Given the description of an element on the screen output the (x, y) to click on. 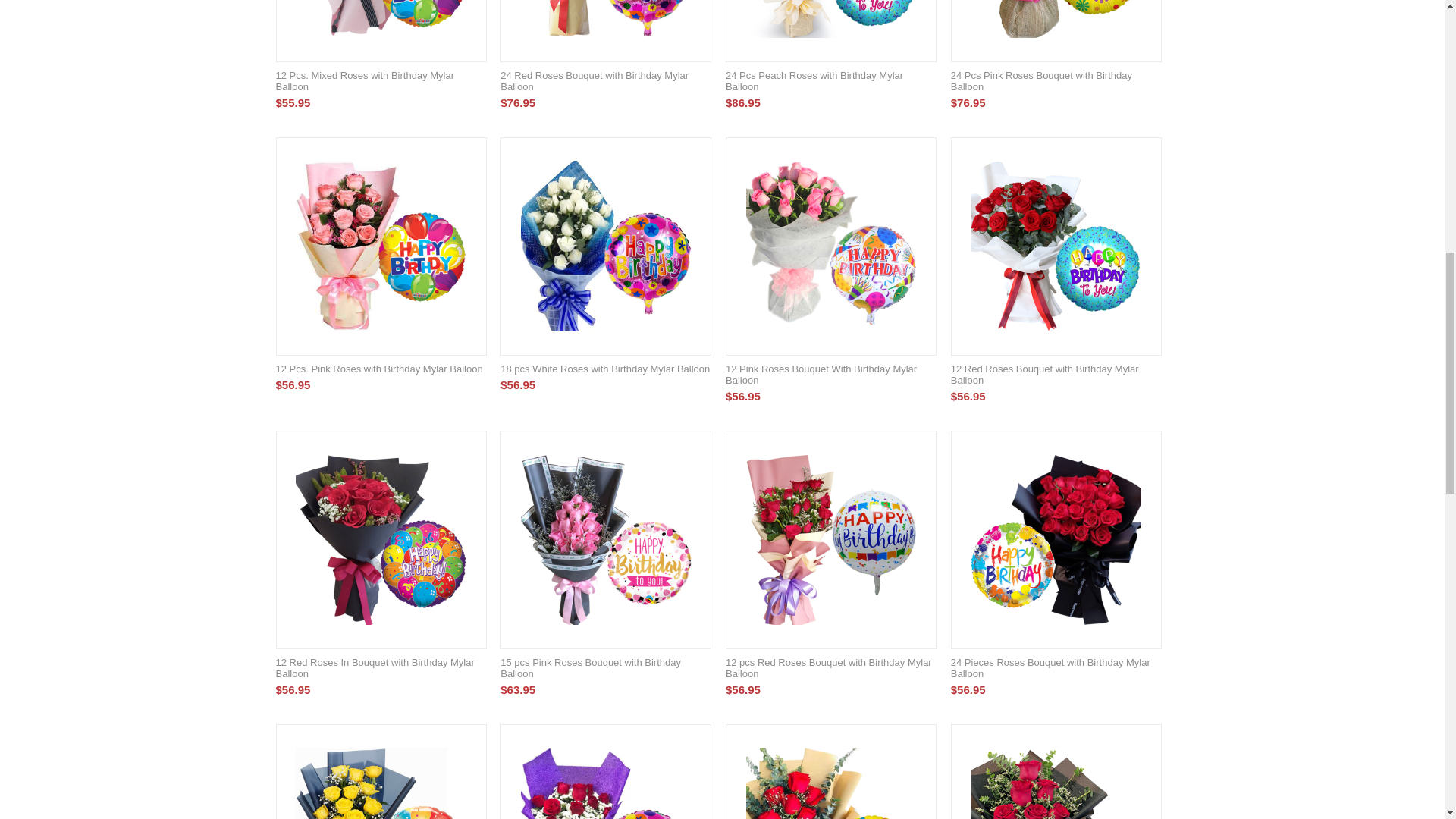
24 Pcs Peach Roses with Birthday Mylar Balloon (831, 23)
24 Pcs Peach Roses with Birthday Mylar Balloon (830, 80)
24 Red Roses Bouquet with Birthday Mylar Balloon (605, 80)
12 Pcs. Mixed Roses with Birthday Mylar Balloon (381, 80)
24 Red Roses Bouquet with Birthday Mylar Balloon (606, 23)
12 Pcs. Mixed Roses with Birthday Mylar Balloon (380, 23)
